Given the description of an element on the screen output the (x, y) to click on. 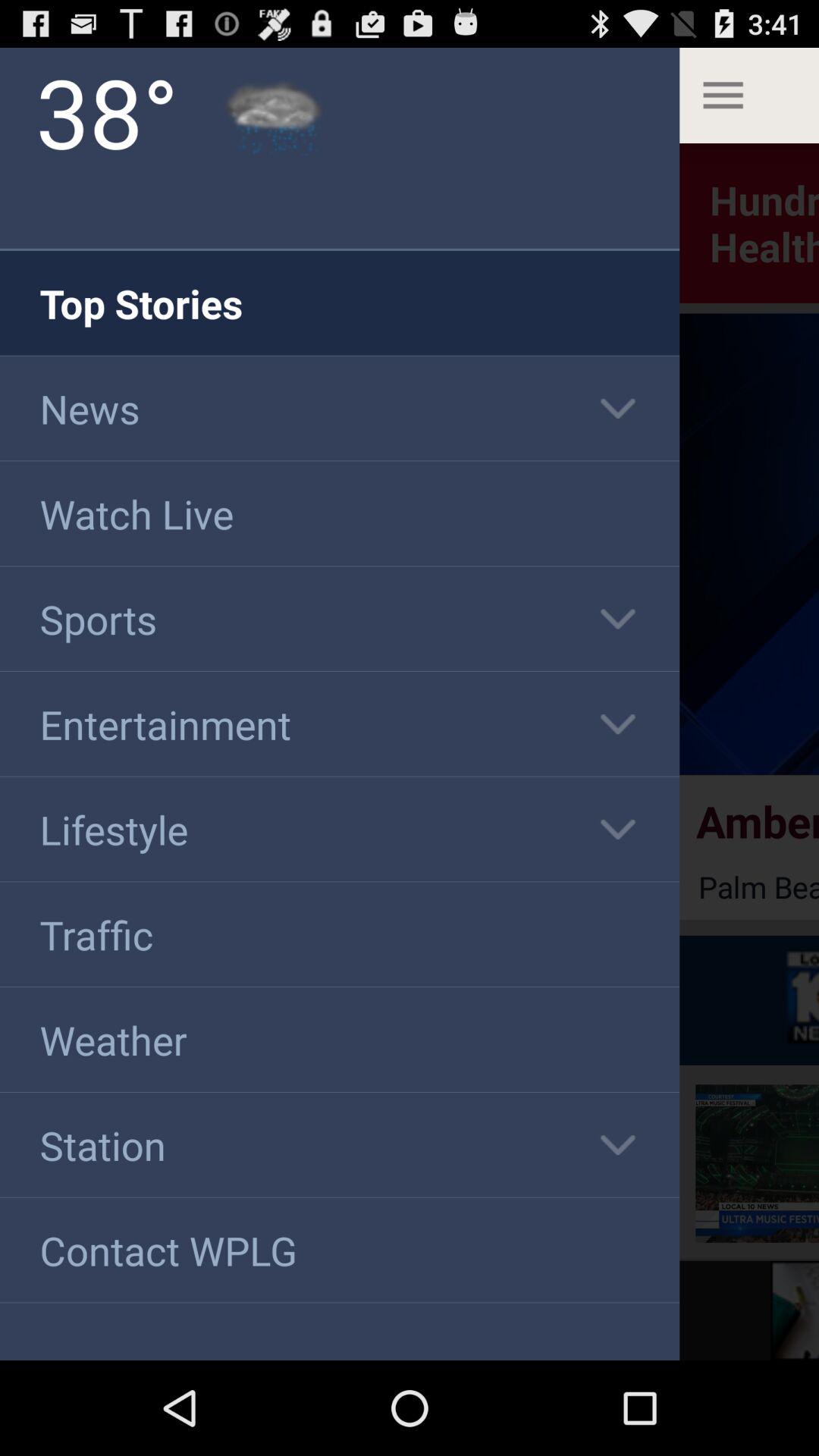
click the menu bar at right top corner below 341 (749, 95)
click on third drop down from top (617, 723)
